Given the description of an element on the screen output the (x, y) to click on. 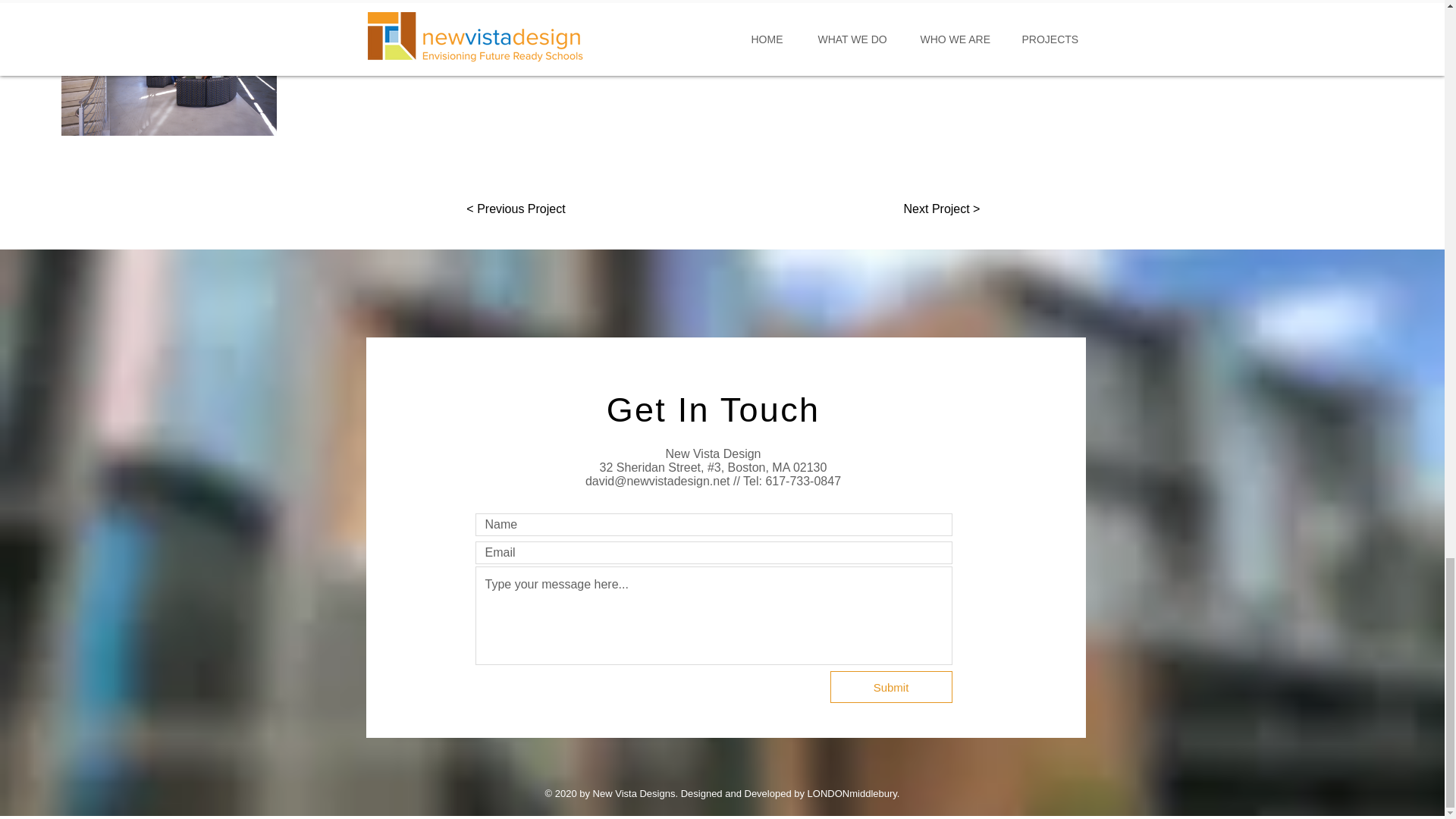
Submit (890, 686)
